Given the description of an element on the screen output the (x, y) to click on. 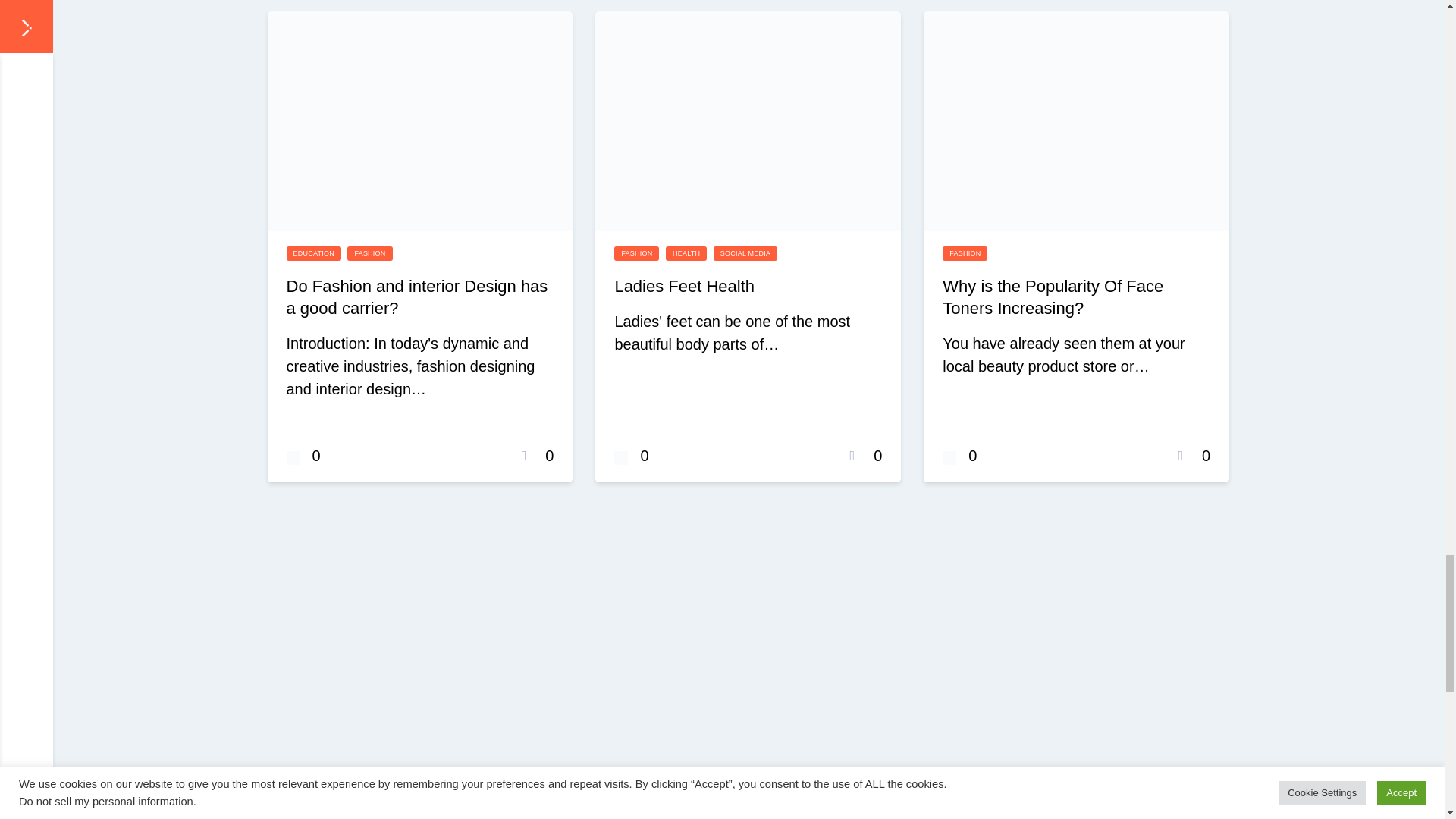
All posts from Fashion (636, 253)
All posts from Fashion (369, 253)
All posts from Education (313, 253)
All posts from Fashion (964, 253)
All posts from Health (685, 253)
All posts from Social Media (745, 253)
